Given the description of an element on the screen output the (x, y) to click on. 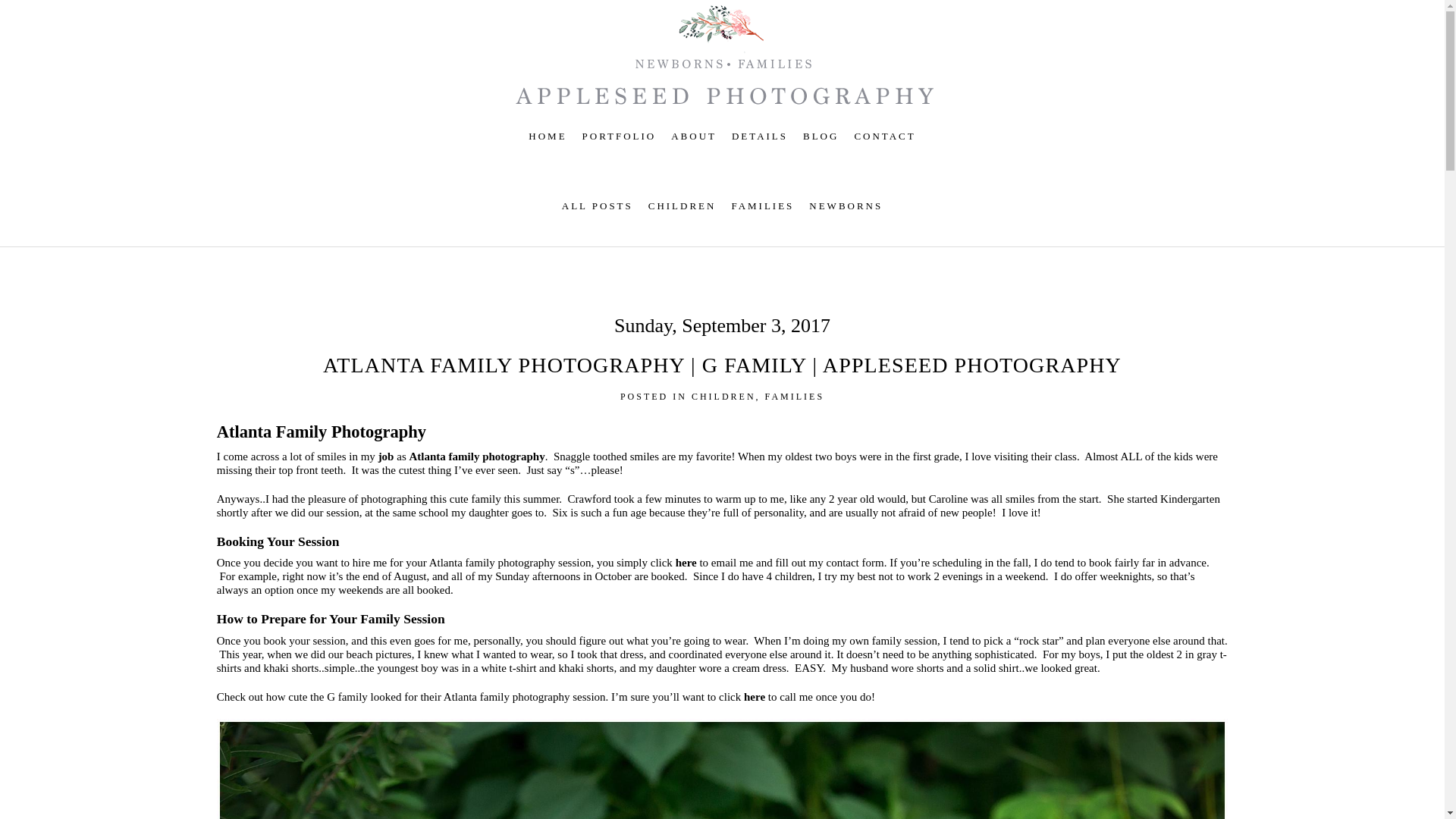
HOME (547, 135)
BLOG (820, 135)
here (754, 696)
ALL POSTS (597, 205)
here (686, 562)
CHILDREN (723, 396)
CHILDREN (681, 205)
NEWBORNS (845, 205)
FAMILIES (761, 205)
ABOUT (693, 135)
